Given the description of an element on the screen output the (x, y) to click on. 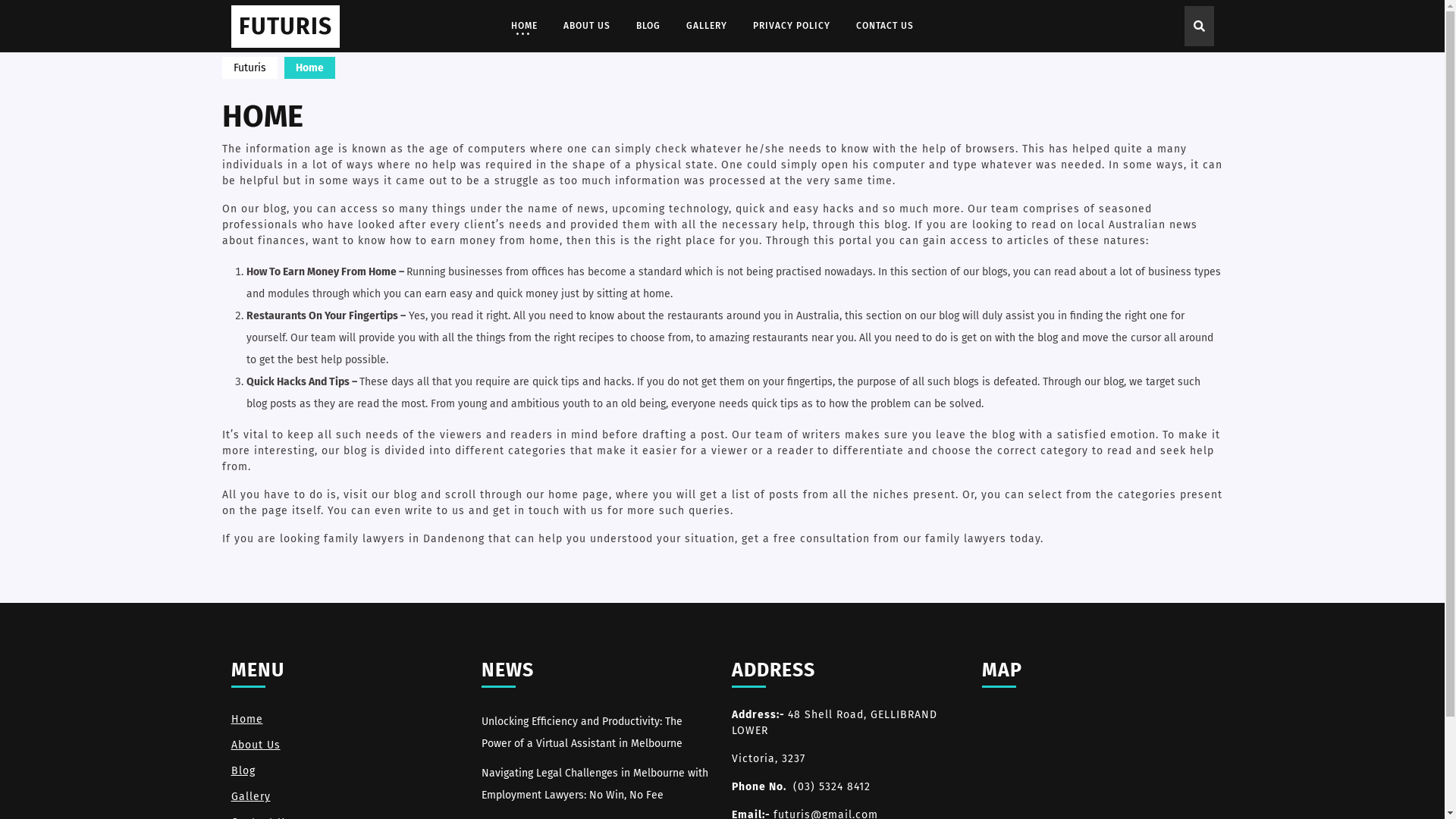
PRIVACY POLICY Element type: text (791, 26)
Futuris Element type: text (248, 67)
HOME Element type: text (523, 26)
CONTACT US Element type: text (884, 26)
GALLERY Element type: text (706, 26)
About Us Element type: text (254, 744)
Home Element type: text (246, 718)
BLOG Element type: text (647, 26)
ABOUT US Element type: text (586, 26)
Blog Element type: text (242, 770)
FUTURIS Element type: text (284, 25)
Gallery Element type: text (249, 796)
